Given the description of an element on the screen output the (x, y) to click on. 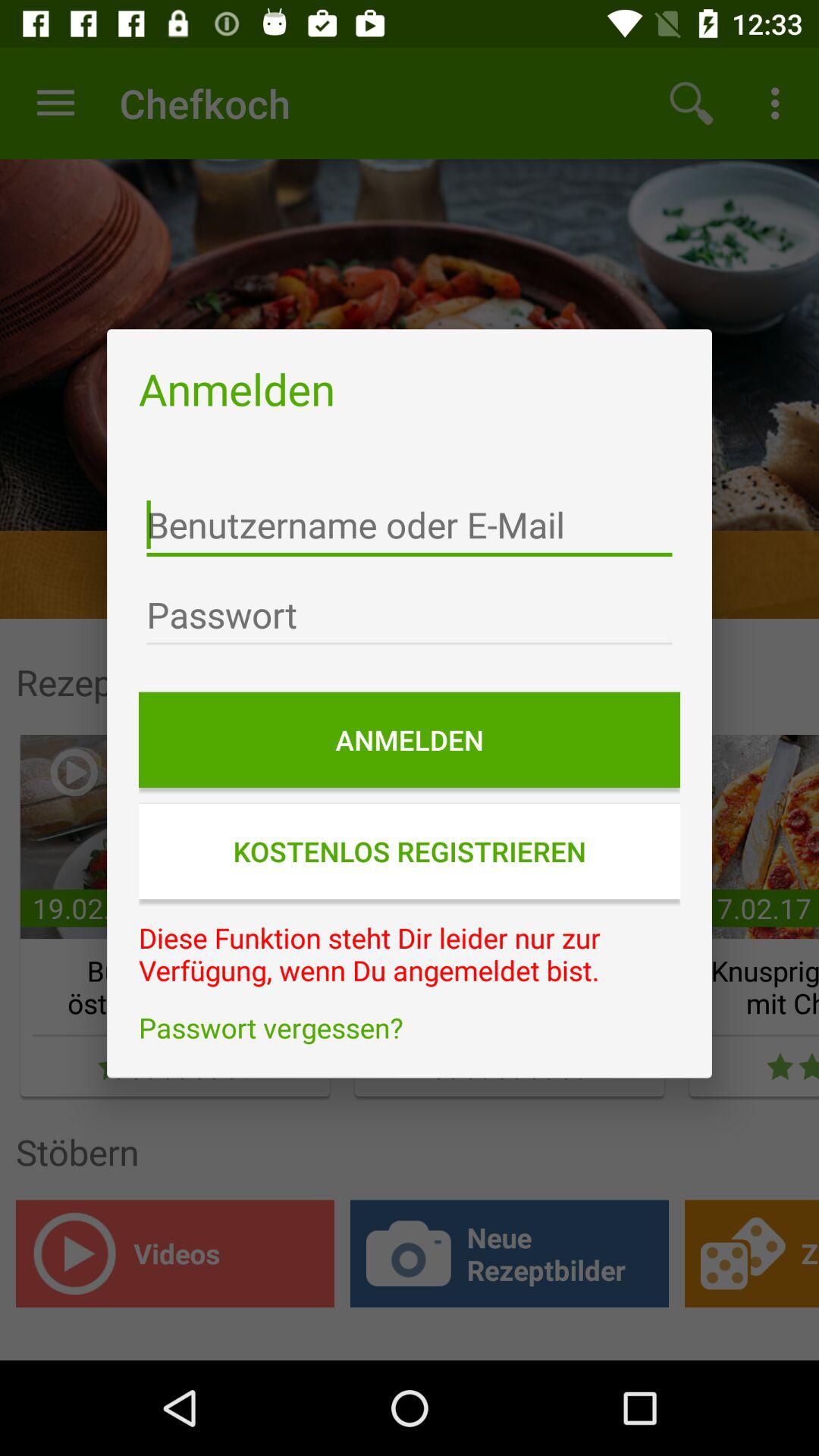
enter username or email (409, 525)
